Given the description of an element on the screen output the (x, y) to click on. 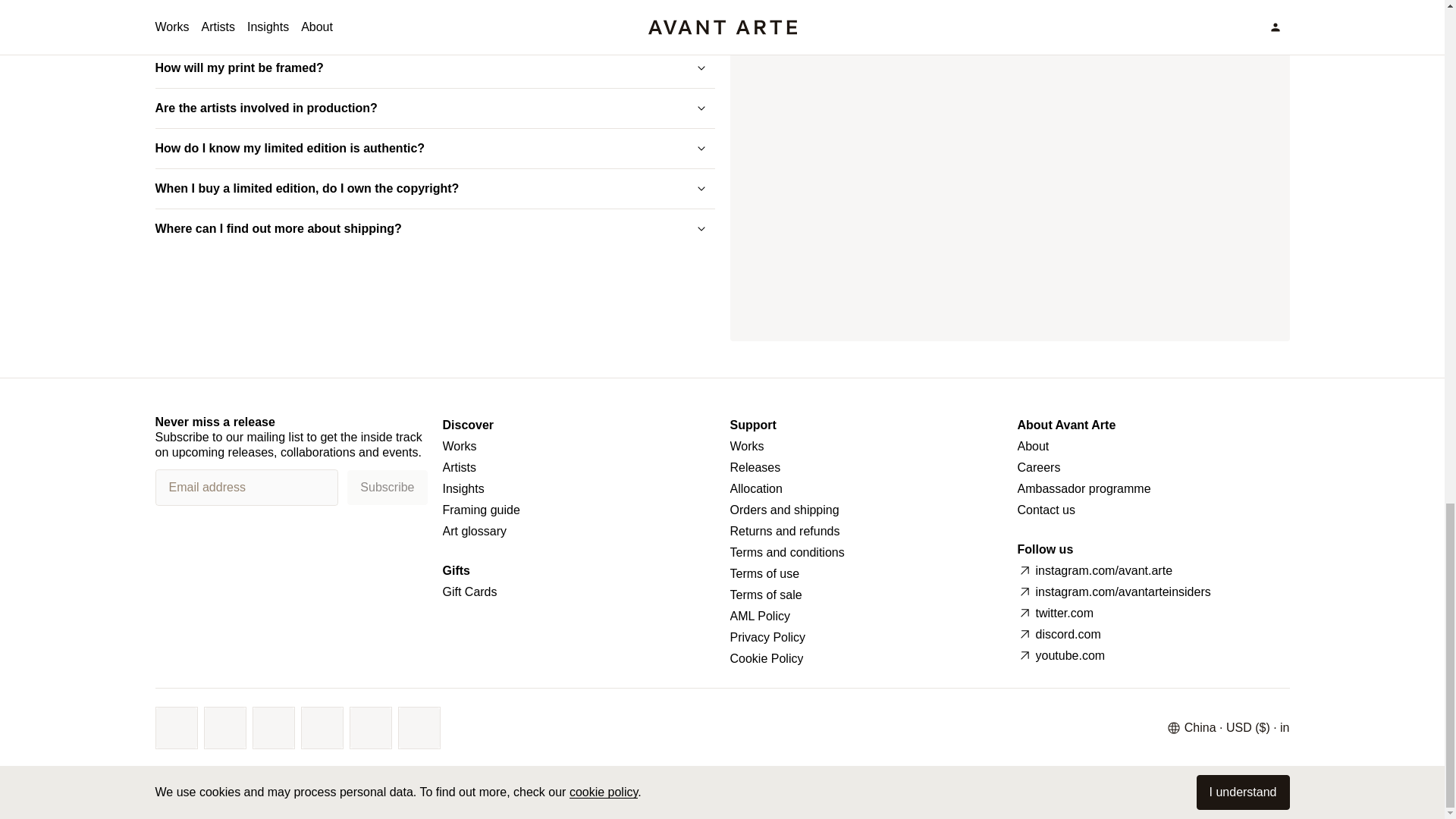
americanExpress (273, 727)
payPal (321, 727)
visa (175, 727)
weChat (370, 727)
cryptoCom (418, 727)
masterCard (225, 727)
